Given the description of an element on the screen output the (x, y) to click on. 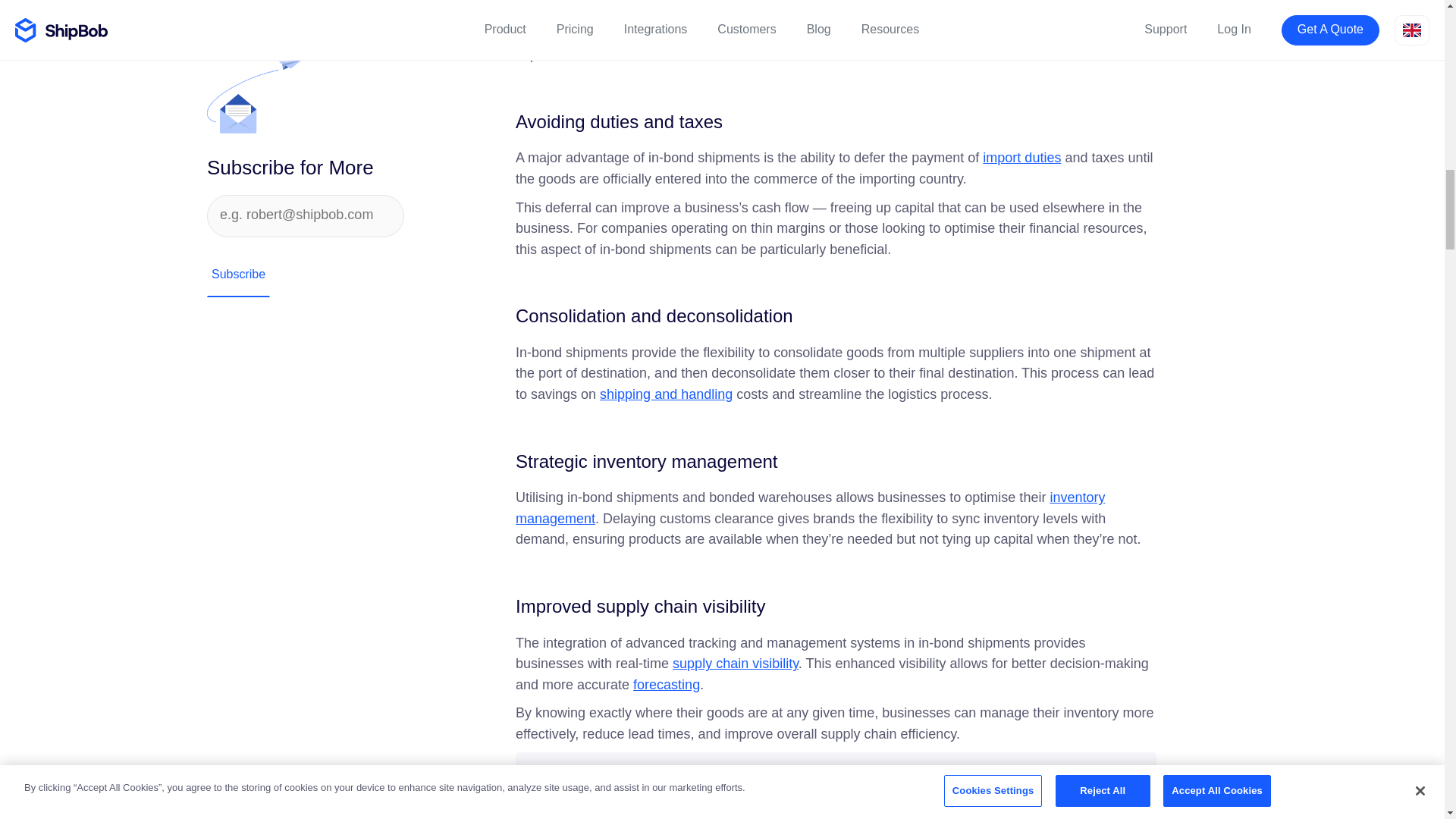
shipping and handling (665, 394)
import duties (1021, 157)
forecasting (666, 684)
inventory management (810, 507)
supply chain visibility (734, 663)
